Given the description of an element on the screen output the (x, y) to click on. 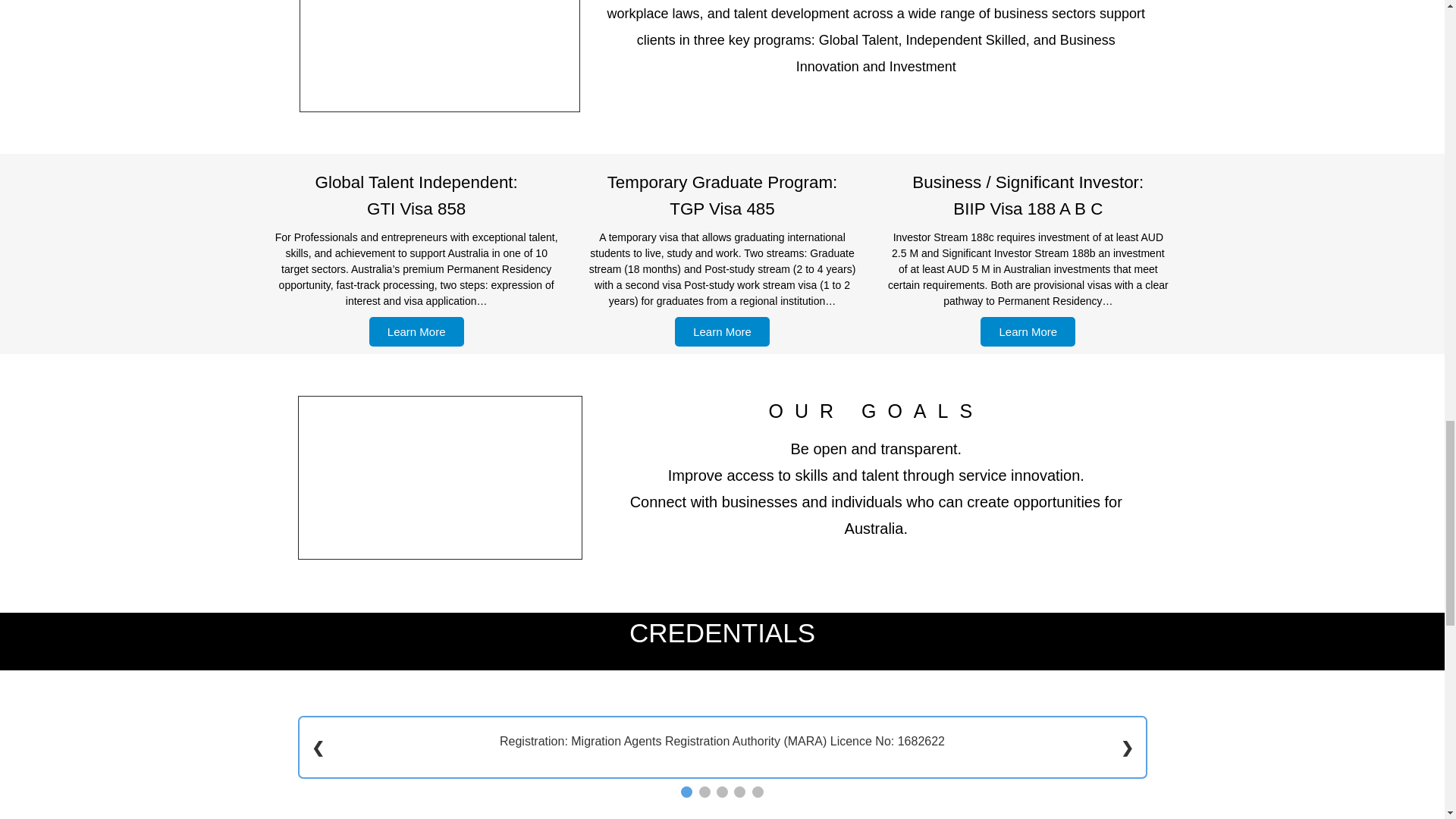
Learn More (416, 331)
Learn More (1027, 331)
Learn More (722, 331)
